Given the description of an element on the screen output the (x, y) to click on. 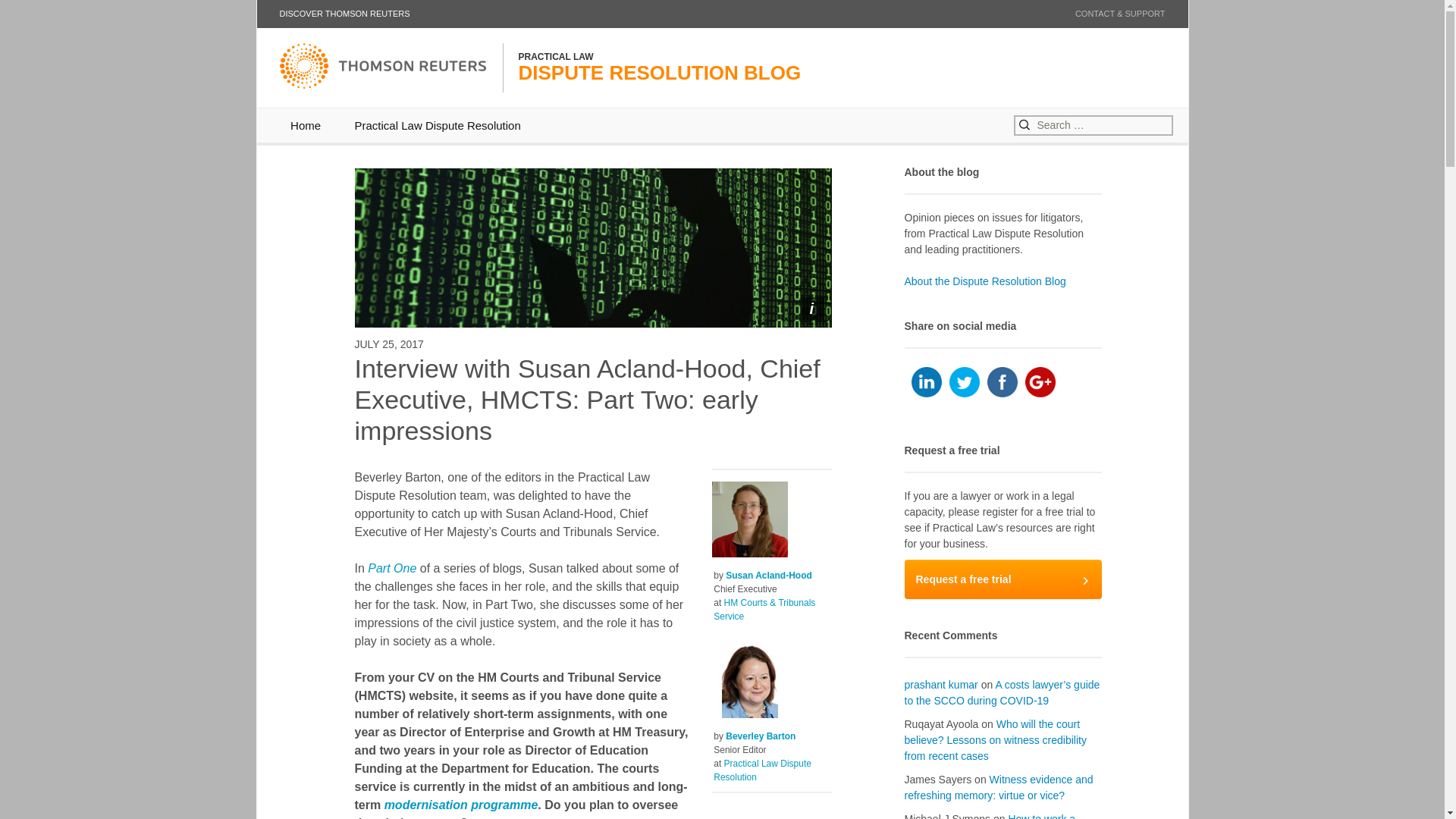
Susan Acland-Hood (768, 575)
Beverley Barton (759, 736)
FACEBOOK (1002, 381)
Home (305, 125)
Practice note, Court reform programme: tracker (461, 804)
How to work a litigation funder (1002, 578)
DISCOVER THOMSON REUTERS (989, 816)
modernisation programme (344, 13)
Part One (461, 804)
TWITTER (392, 567)
Practical Law Dispute Resolution (964, 381)
Search (437, 125)
